Given the description of an element on the screen output the (x, y) to click on. 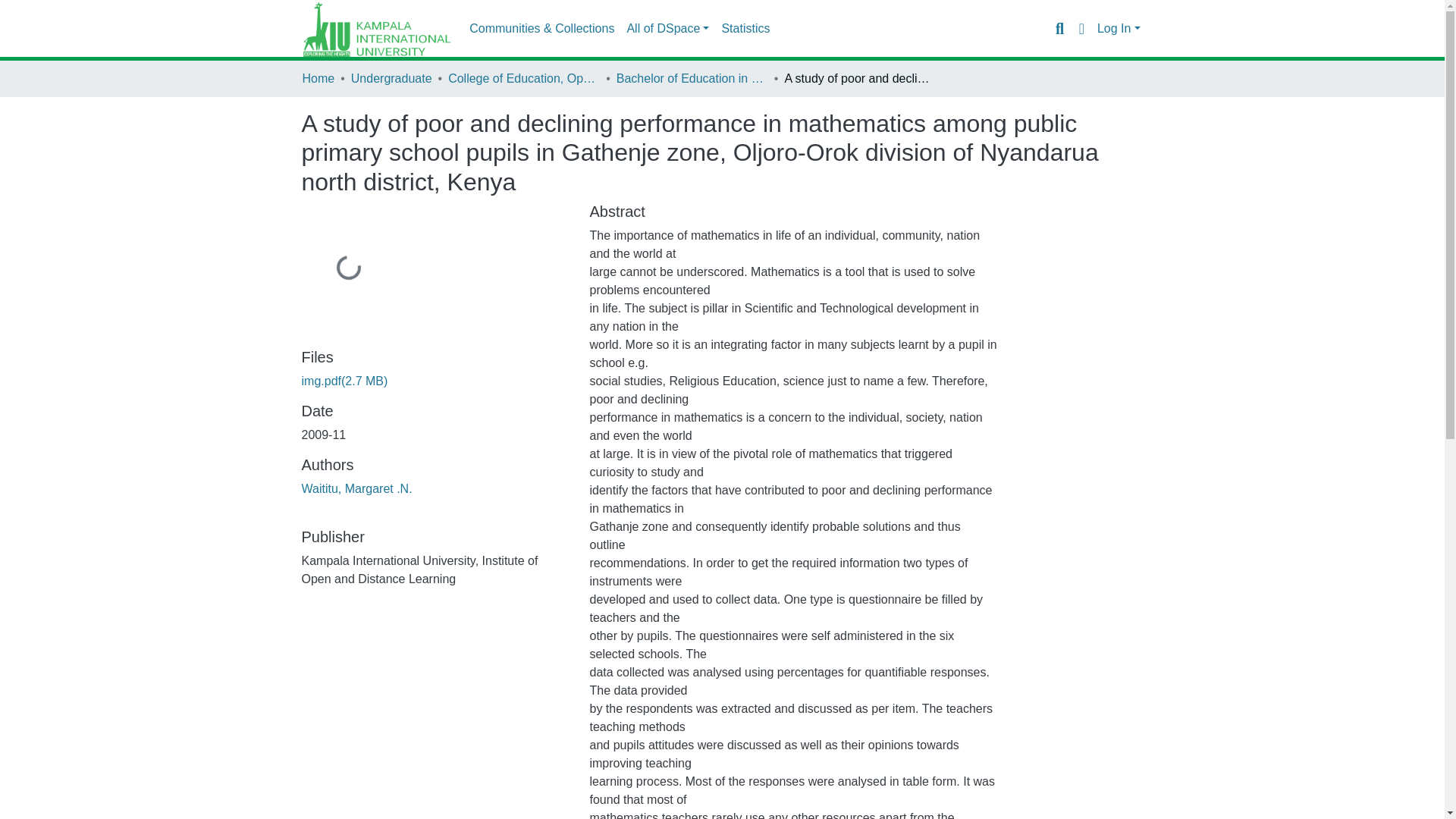
Home (317, 78)
Language switch (1081, 28)
College of Education, Open and Distance Learning (523, 78)
Statistics (745, 28)
All of DSpace (667, 28)
Statistics (745, 28)
Log In (1118, 28)
Waititu, Margaret .N. (356, 488)
Undergraduate (391, 78)
Search (1058, 28)
